Given the description of an element on the screen output the (x, y) to click on. 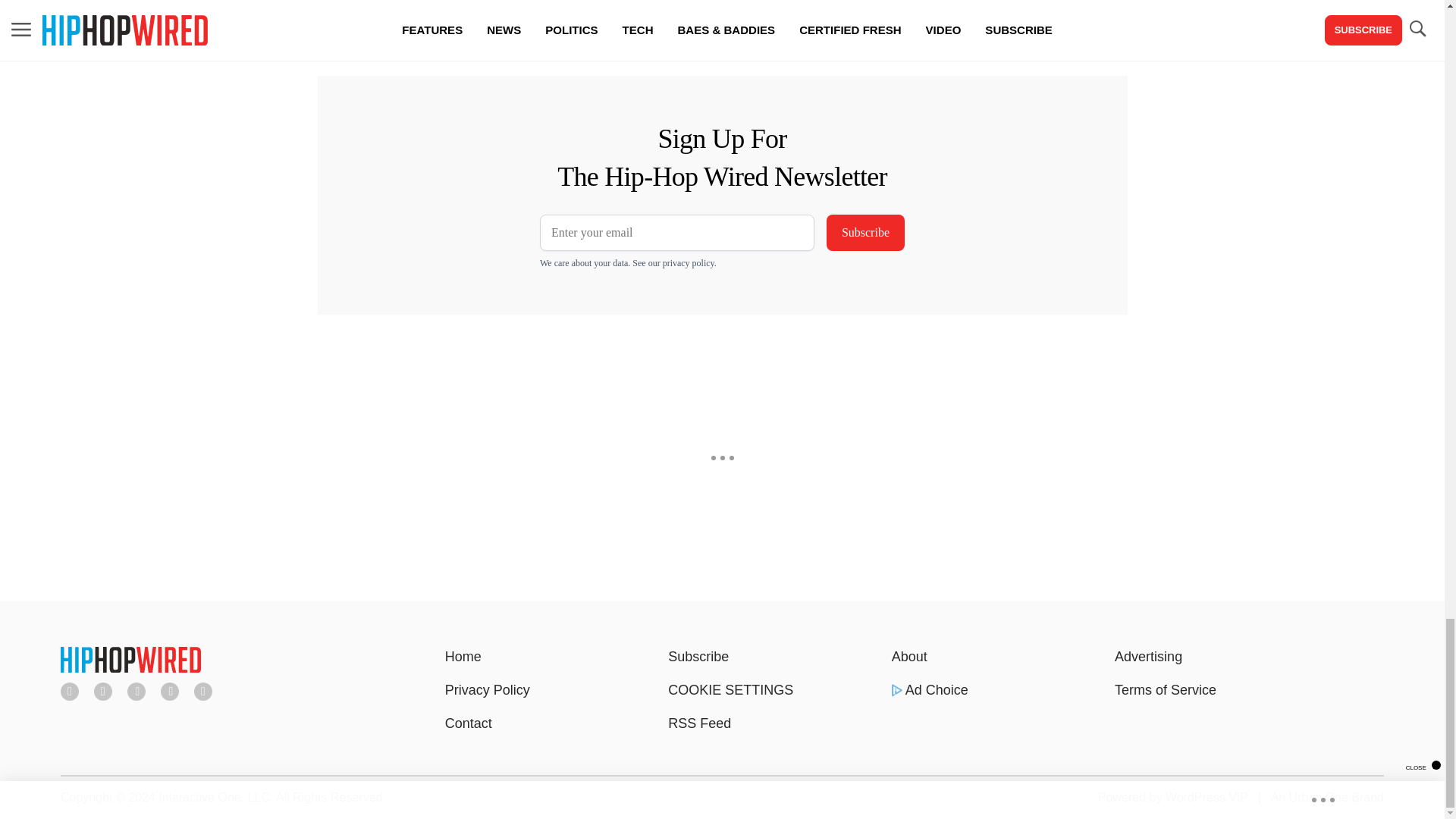
Subscribe (865, 232)
privacy policy (688, 262)
